Given the description of an element on the screen output the (x, y) to click on. 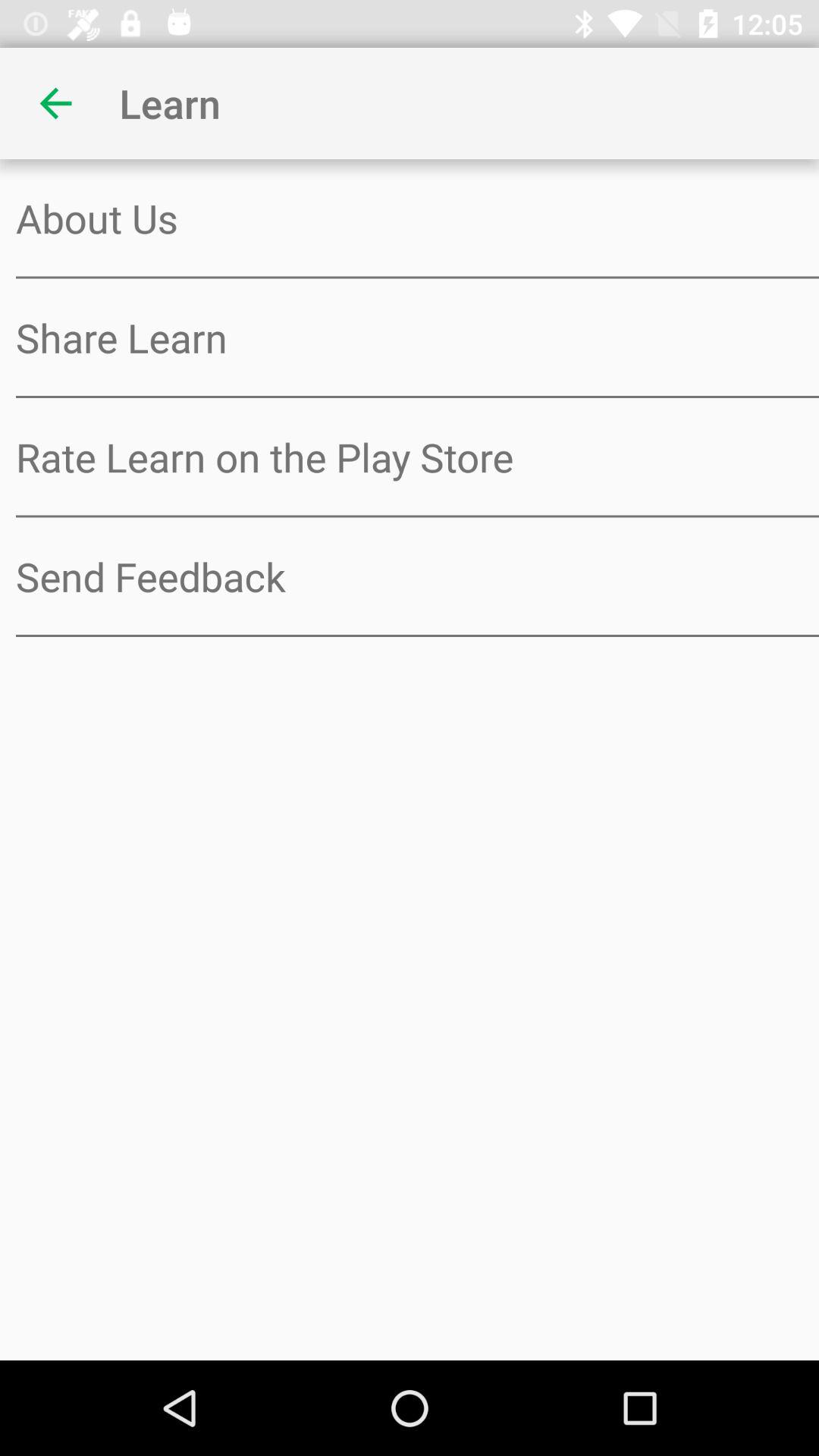
press the item next to learn item (55, 103)
